Given the description of an element on the screen output the (x, y) to click on. 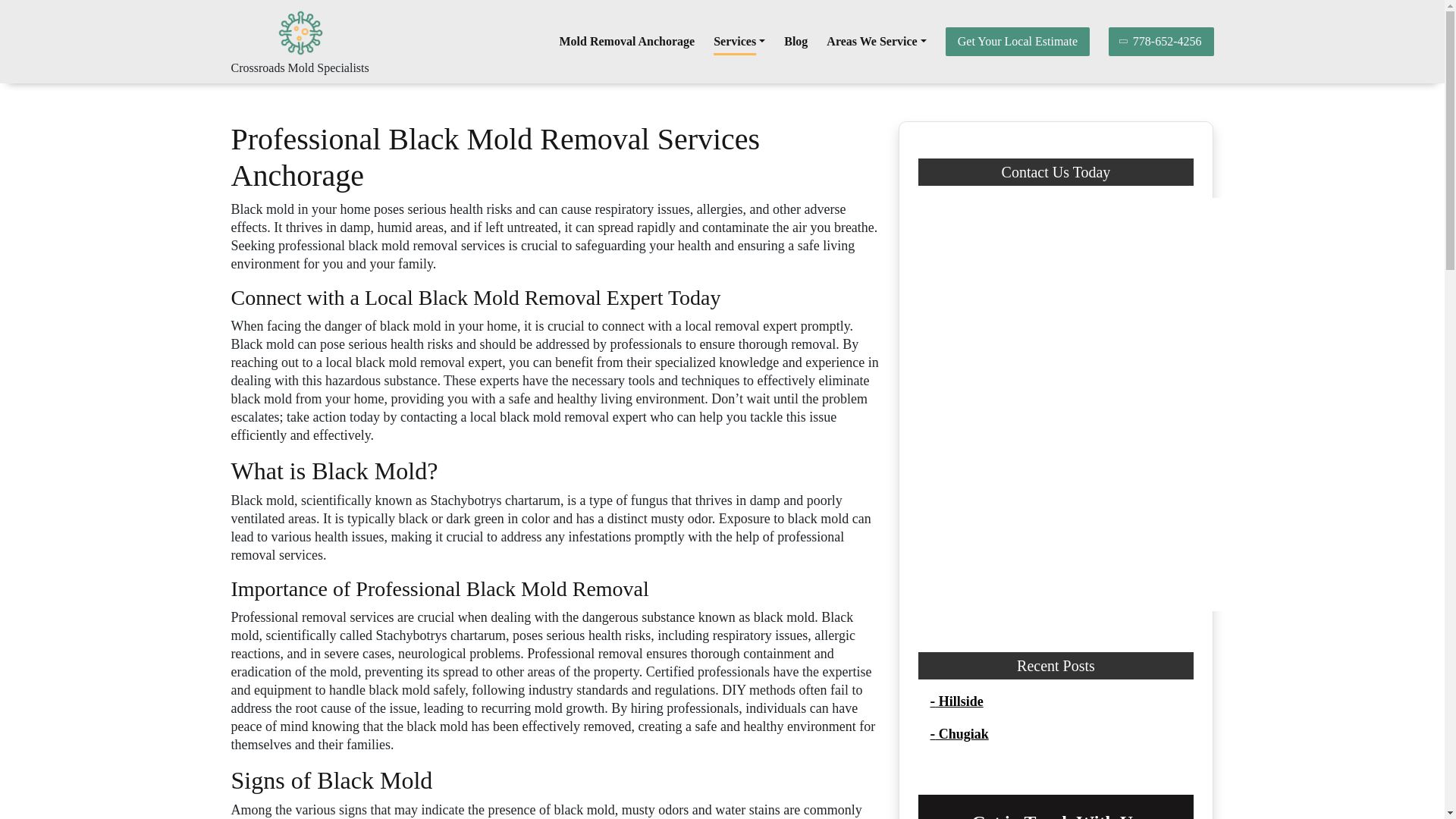
Get Your Local Estimate (1016, 41)
778-652-4256 (1161, 41)
- Hillside (956, 701)
Mold Removal Anchorage (627, 41)
Crossroads Mold Specialists (299, 67)
Areas We Service (876, 41)
Services (739, 41)
- Chugiak (959, 734)
Services (739, 41)
Mold Removal Anchorage (627, 41)
